Given the description of an element on the screen output the (x, y) to click on. 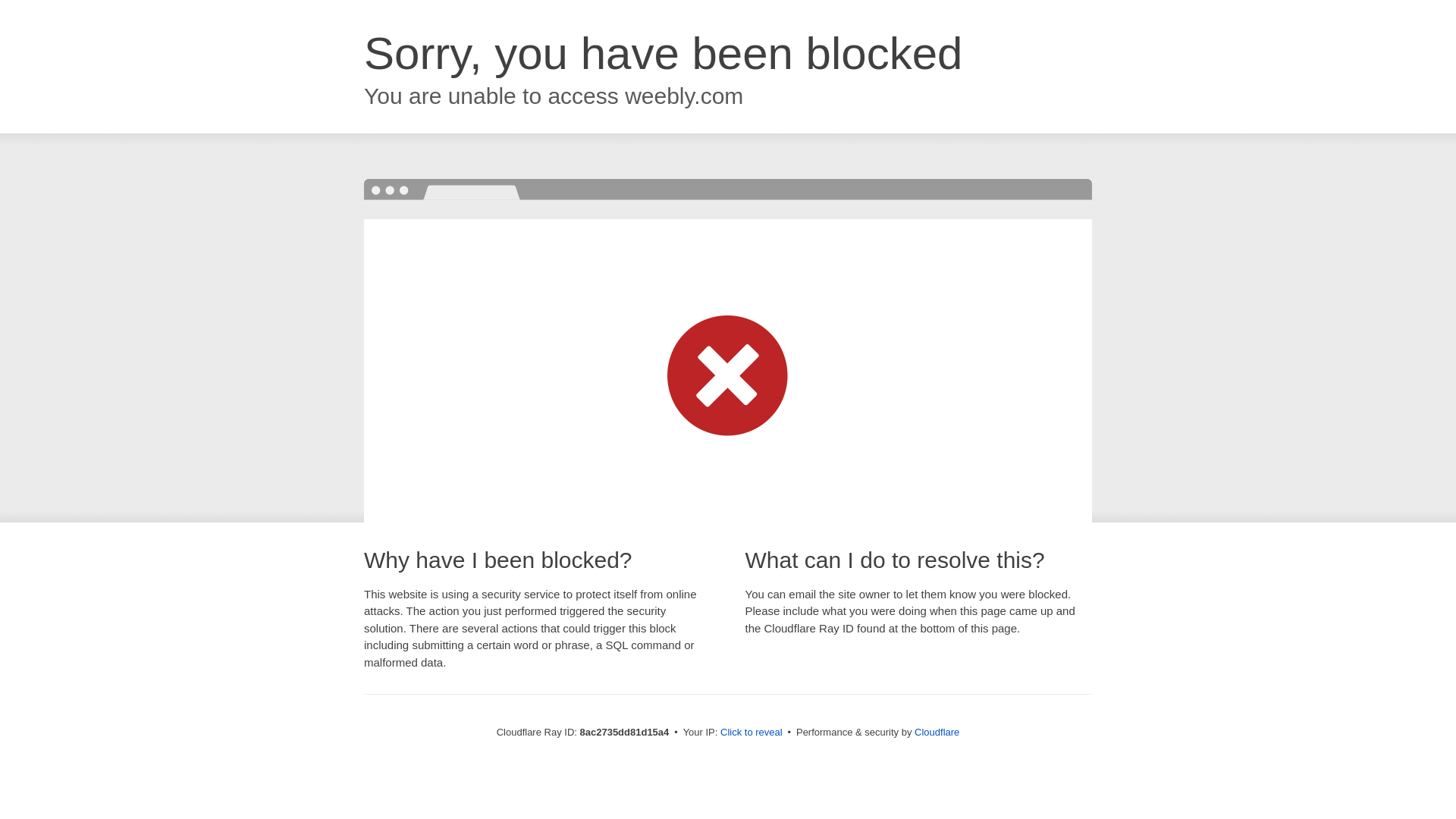
Cloudflare (936, 731)
Click to reveal (751, 732)
